Given the description of an element on the screen output the (x, y) to click on. 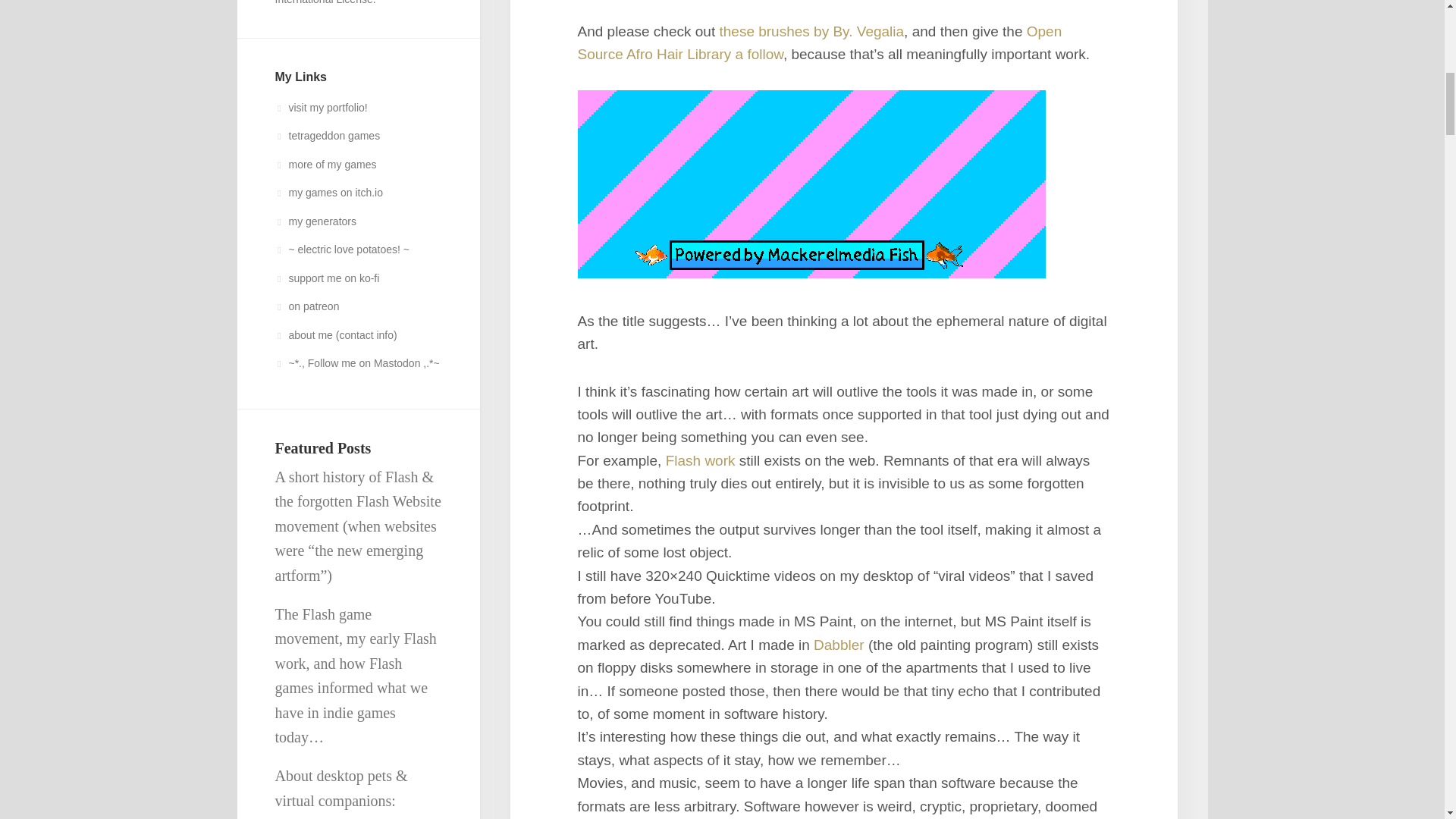
buy me a coffee on ko-fi (326, 277)
Creative Commons Attribution 4.0 International (334, 2)
visit my portfolio! (320, 107)
My portfolio (320, 107)
my games on itch.io (328, 192)
tetrageddon games (327, 135)
support me on ko-fi (326, 277)
my games on itch.io (328, 192)
even more of my games (325, 163)
my generators and procgen experiments (315, 221)
more of my games (325, 163)
my generators (315, 221)
on patreon (307, 306)
the official potatoware website (342, 249)
tetrageddon games (327, 135)
